Given the description of an element on the screen output the (x, y) to click on. 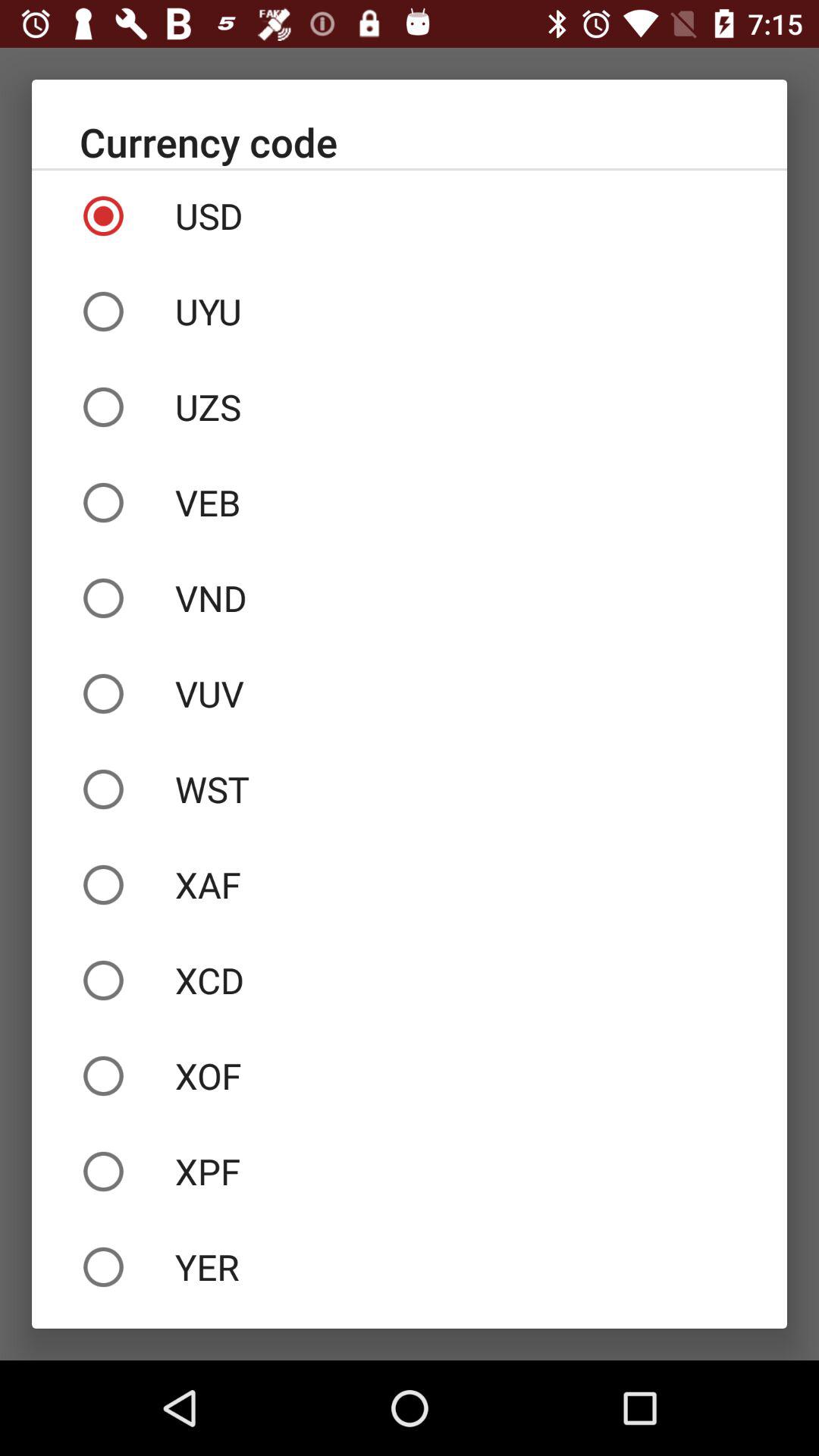
flip until zar item (409, 1321)
